Given the description of an element on the screen output the (x, y) to click on. 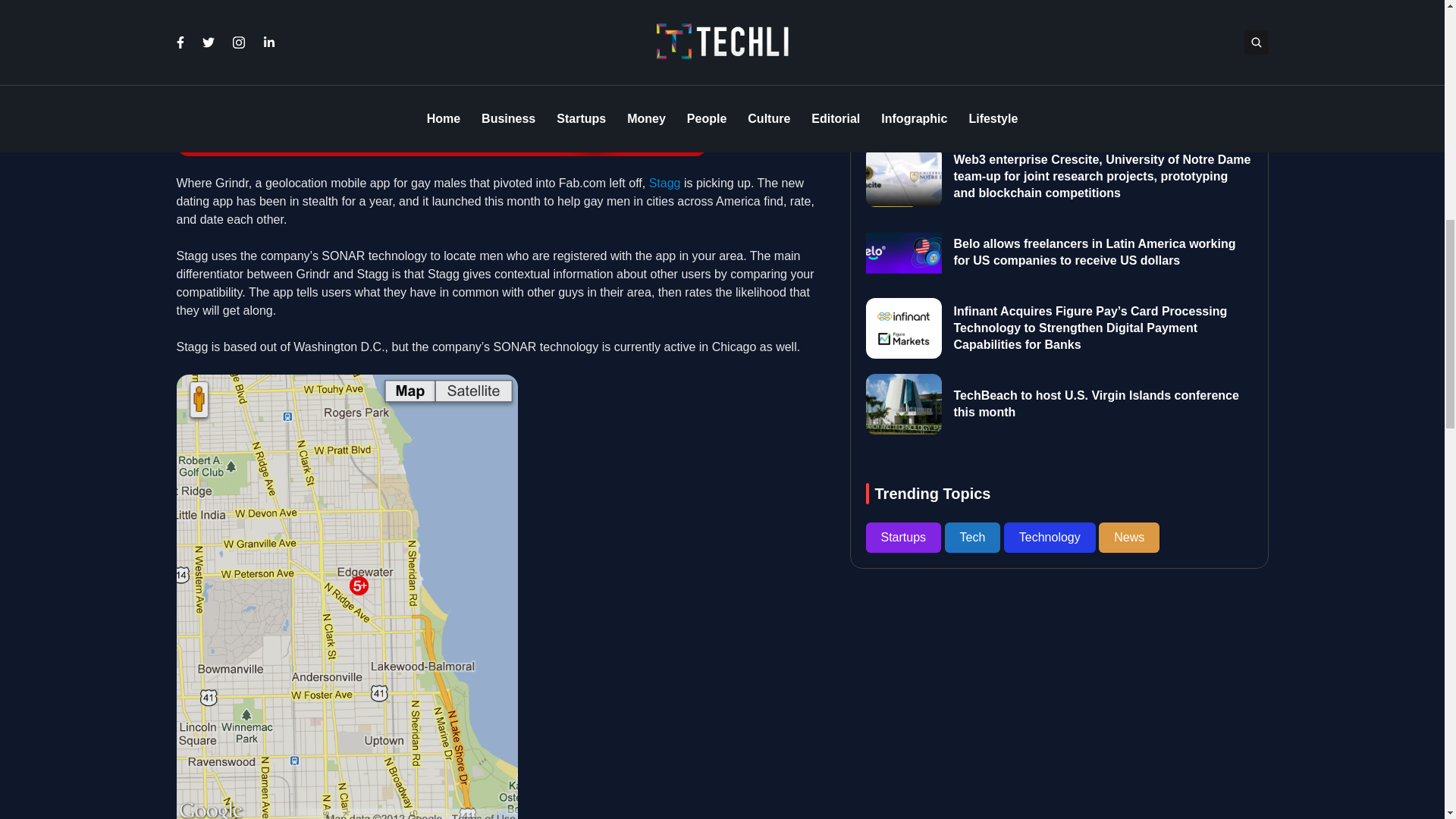
Stagg (665, 182)
